Given the description of an element on the screen output the (x, y) to click on. 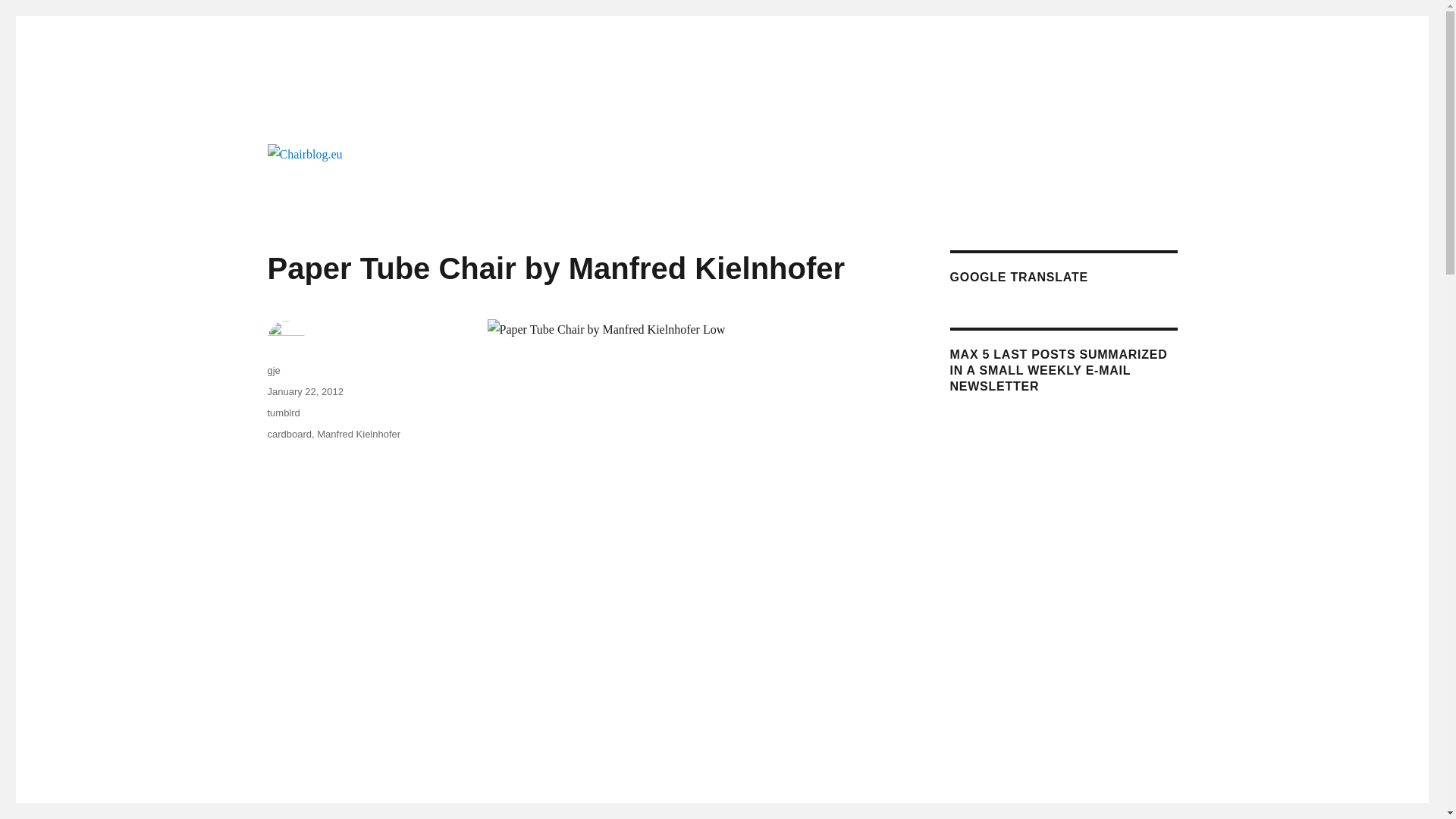
January 22, 2012 (304, 391)
Manfred Kielnhofer (358, 433)
gje (272, 369)
Chairblog.eu (331, 114)
tumblrd (282, 412)
cardboard (288, 433)
